Given the description of an element on the screen output the (x, y) to click on. 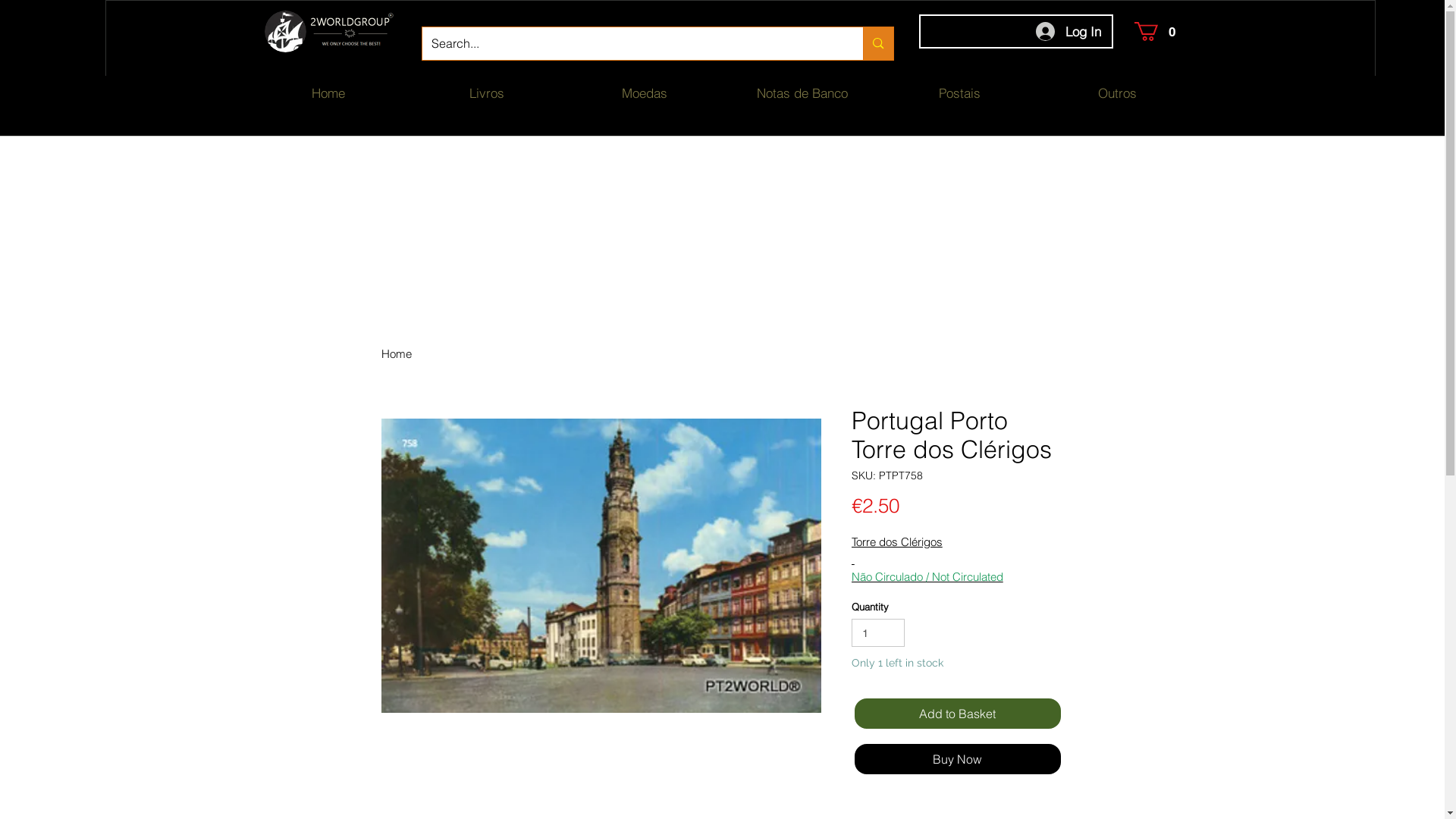
Postais Element type: text (959, 92)
Outros Element type: text (1117, 92)
Notas de Banco Element type: text (802, 92)
Imagem Element type: hover (284, 31)
Imagem Element type: hover (350, 31)
Log In Element type: text (1068, 31)
0 Element type: text (1157, 30)
Home Element type: text (395, 353)
Add to Basket Element type: text (956, 713)
Home Element type: text (327, 92)
Livros Element type: text (486, 92)
Moedas Element type: text (644, 92)
Buy Now Element type: text (956, 758)
